Given the description of an element on the screen output the (x, y) to click on. 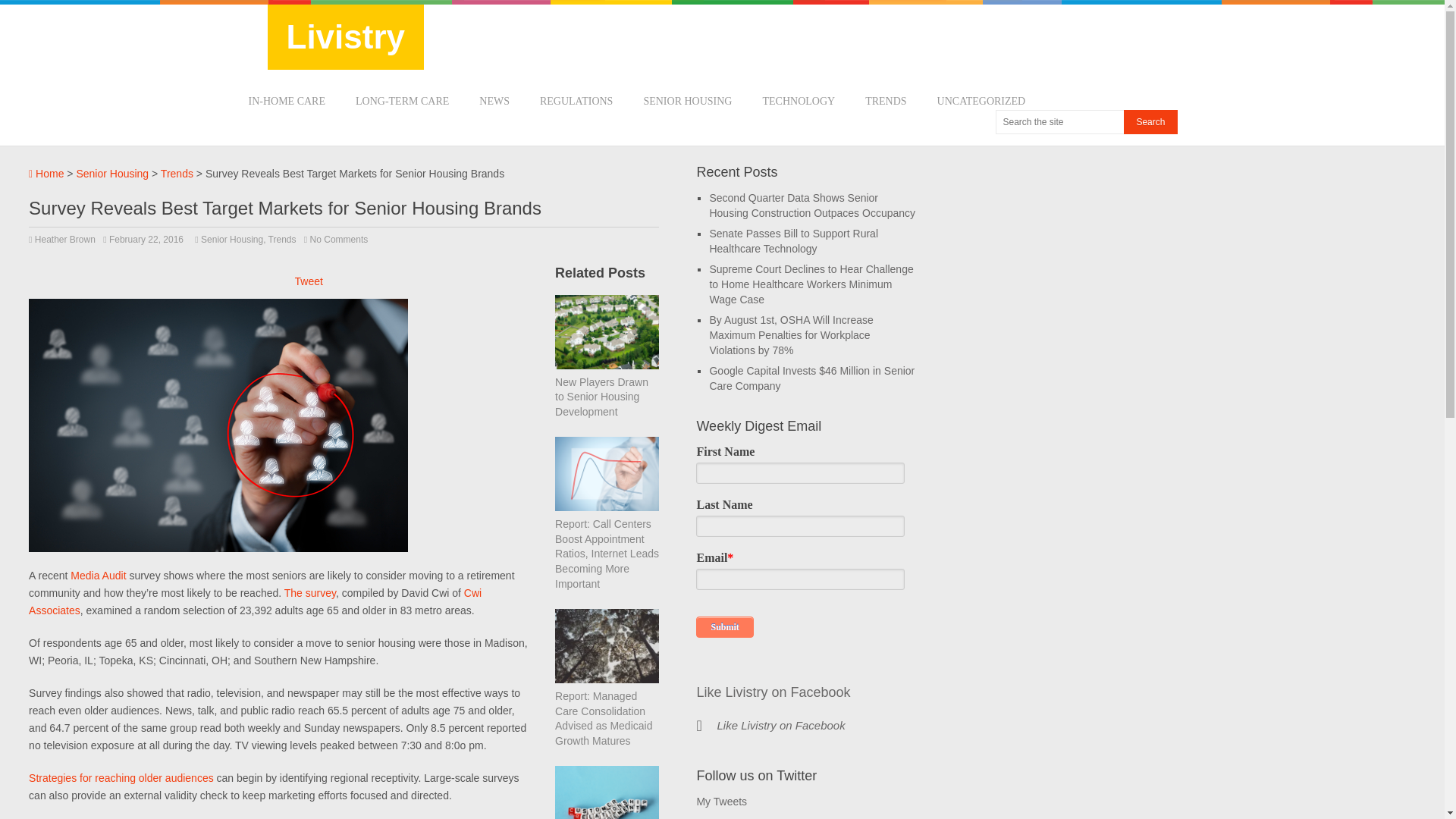
REGULATIONS (576, 101)
Heather Brown (65, 239)
IN-HOME CARE (287, 101)
Media Audit (97, 575)
Posts by Heather Brown (65, 239)
TECHNOLOGY (797, 101)
SENIOR HOUSING (687, 101)
Search (1150, 121)
Strategies for reaching older audiences (121, 777)
TRENDS (884, 101)
News Related to Assisted Living and Senior Living Facilities (687, 101)
The survey (309, 592)
